Given the description of an element on the screen output the (x, y) to click on. 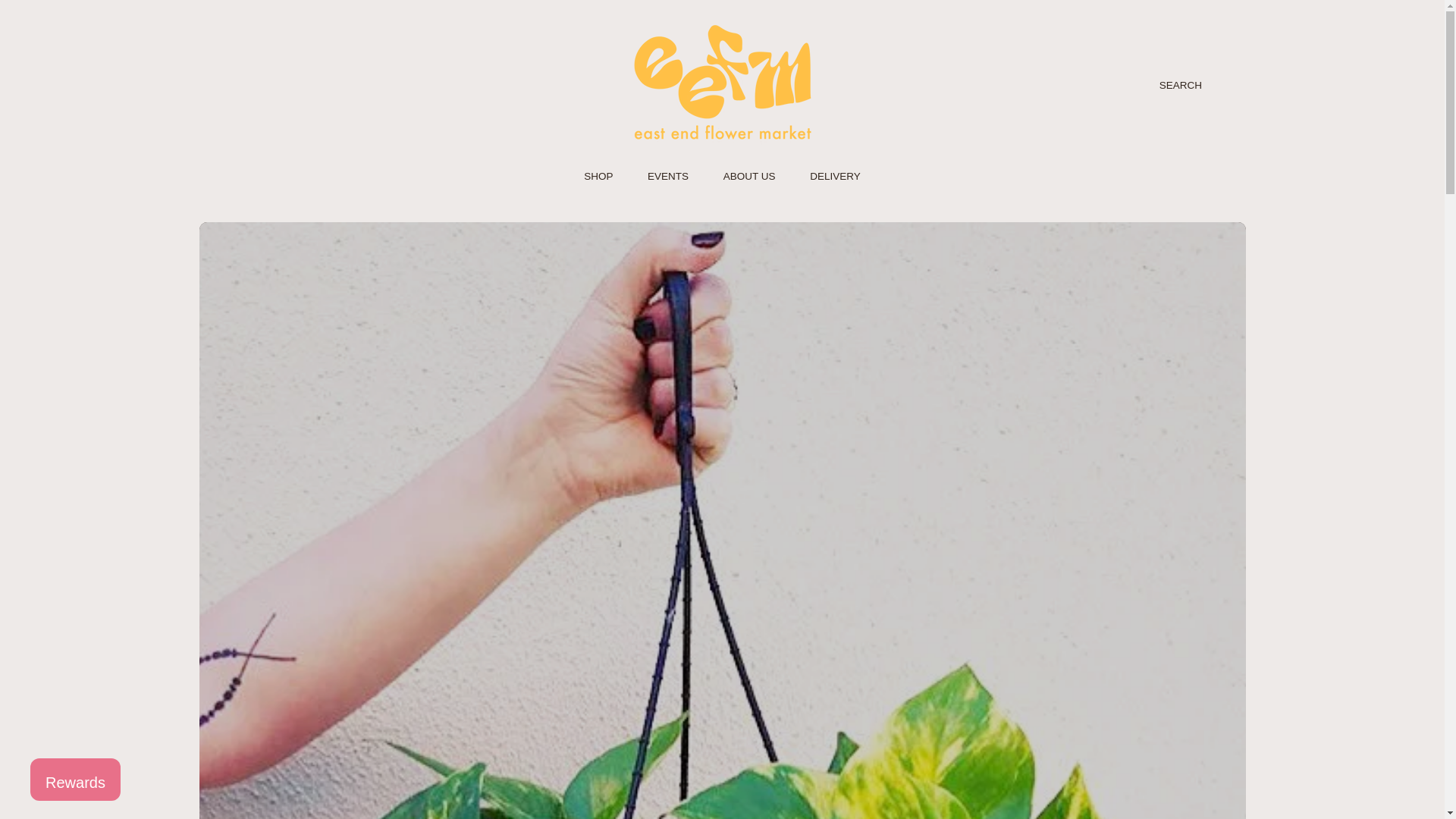
SKIP TO CONTENT (114, 21)
